Given the description of an element on the screen output the (x, y) to click on. 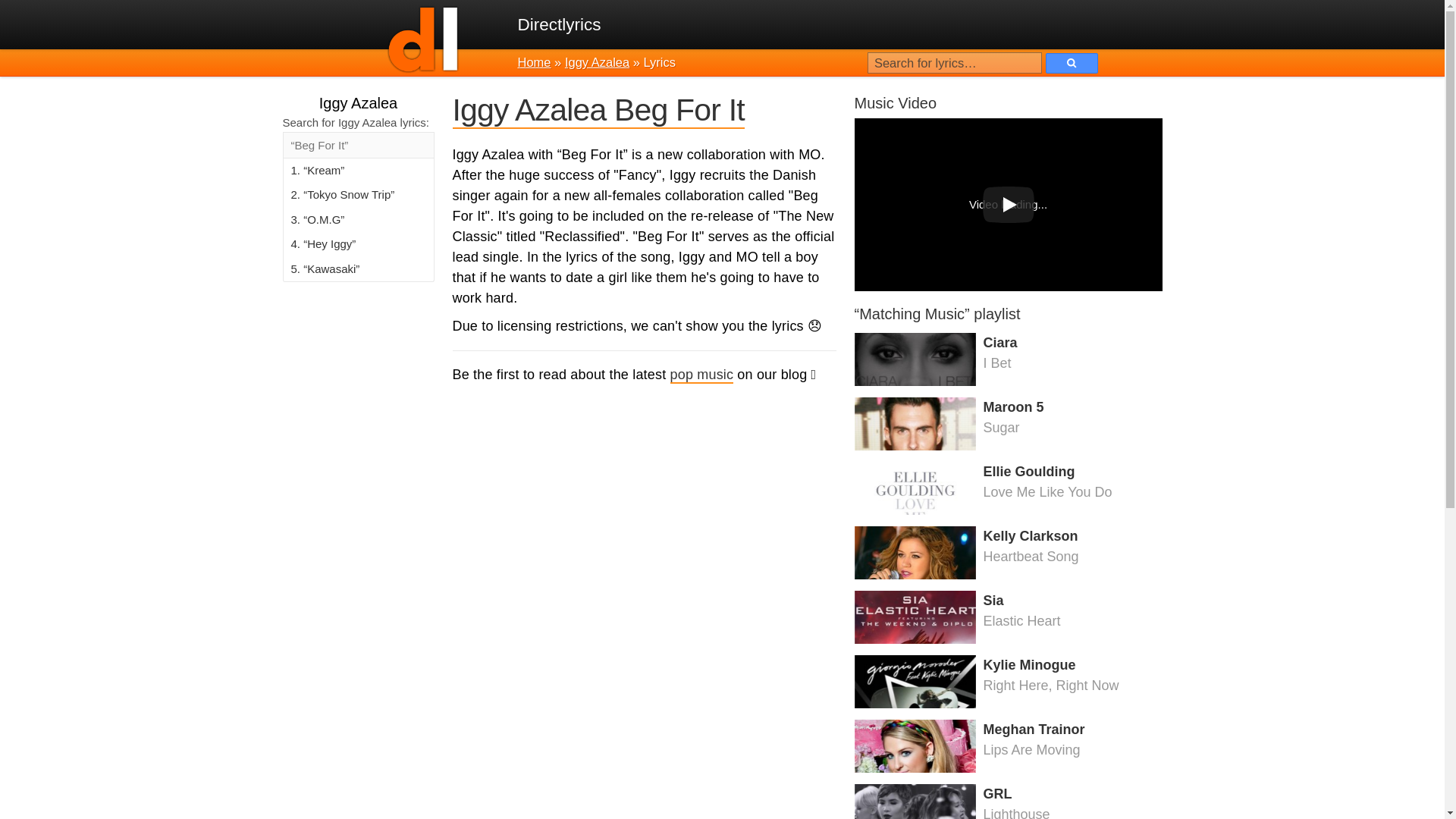
Elastic Heart lyrics (1007, 799)
Heartbeat Song lyrics (1007, 617)
I Bet lyrics (1007, 359)
Home (1007, 552)
pop music (1007, 359)
Iggy Azalea (1007, 617)
